Given the description of an element on the screen output the (x, y) to click on. 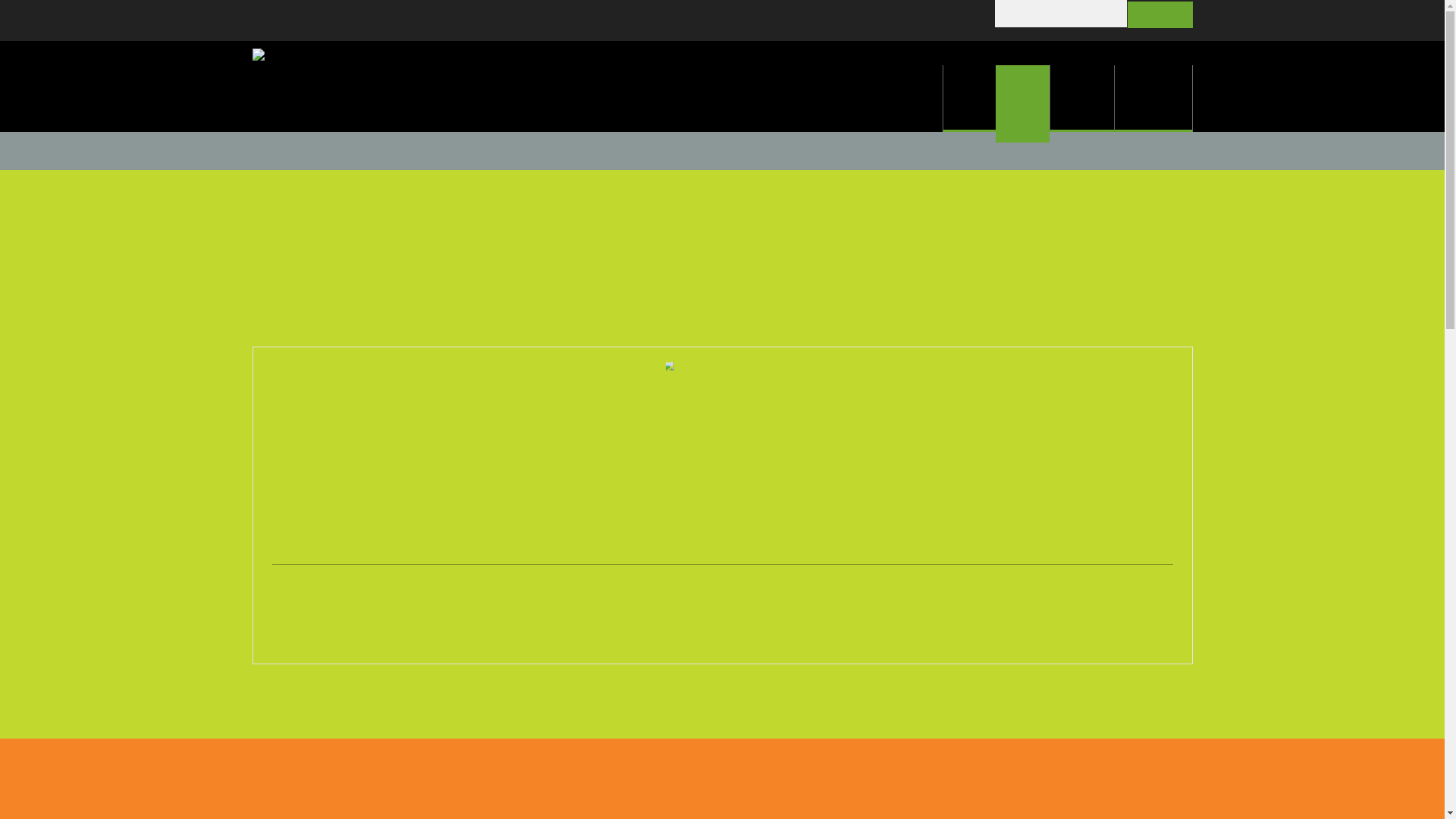
Go to site home page Element type: hover (403, 86)
Services Element type: text (1081, 98)
Go to site home page Element type: hover (334, 63)
Home Element type: text (968, 98)
416-323-1-323 Element type: text (306, 20)
Search Element type: text (1159, 14)
About Element type: text (1022, 103)
Smiling woman with glasses Element type: hover (722, 421)
Contact Us Element type: text (1152, 98)
